Given the description of an element on the screen output the (x, y) to click on. 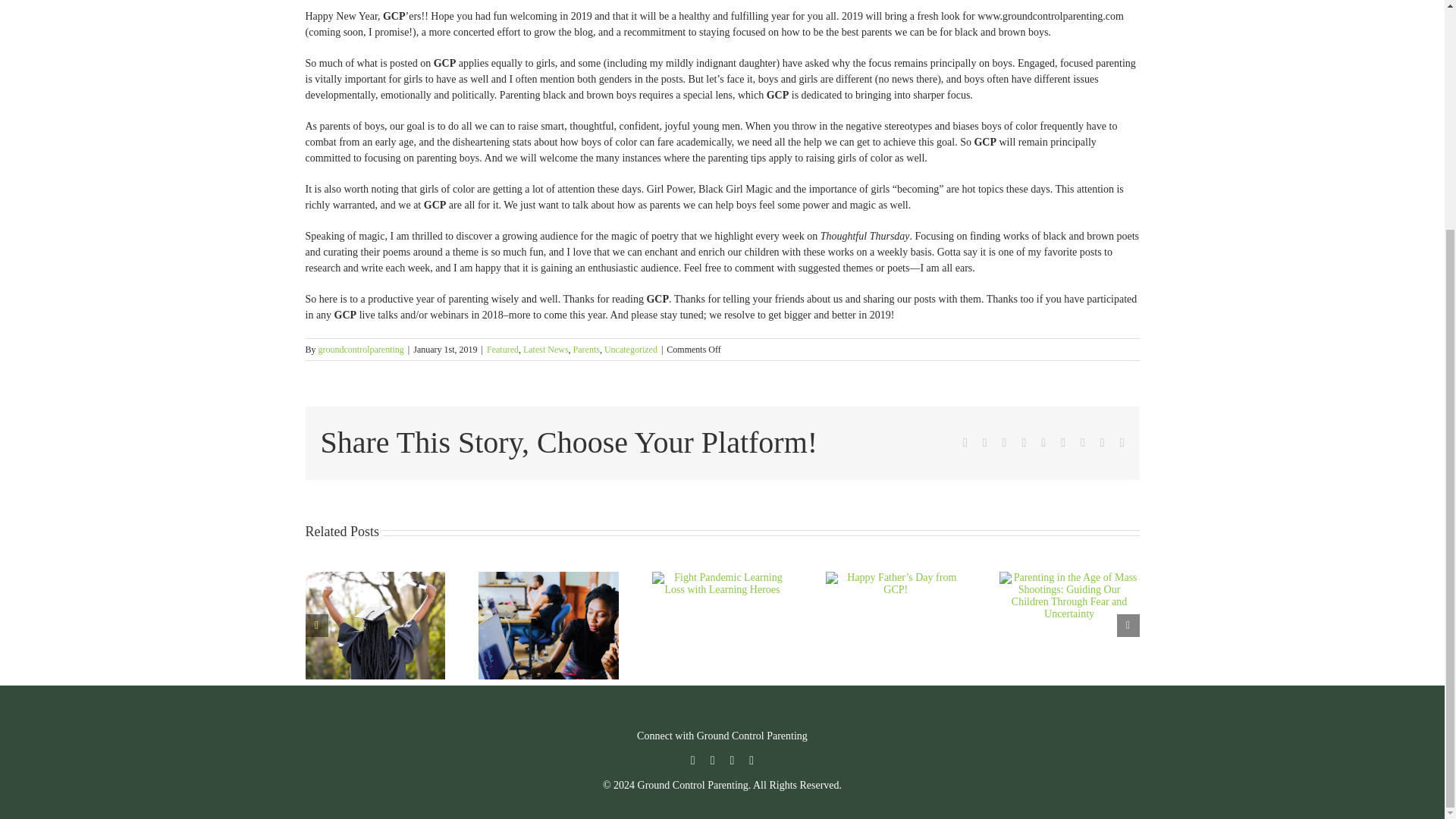
Latest News (545, 348)
Featured (502, 348)
groundcontrolparenting (361, 348)
Uncategorized (631, 348)
Parents (586, 348)
Posts by groundcontrolparenting (361, 348)
